Given the description of an element on the screen output the (x, y) to click on. 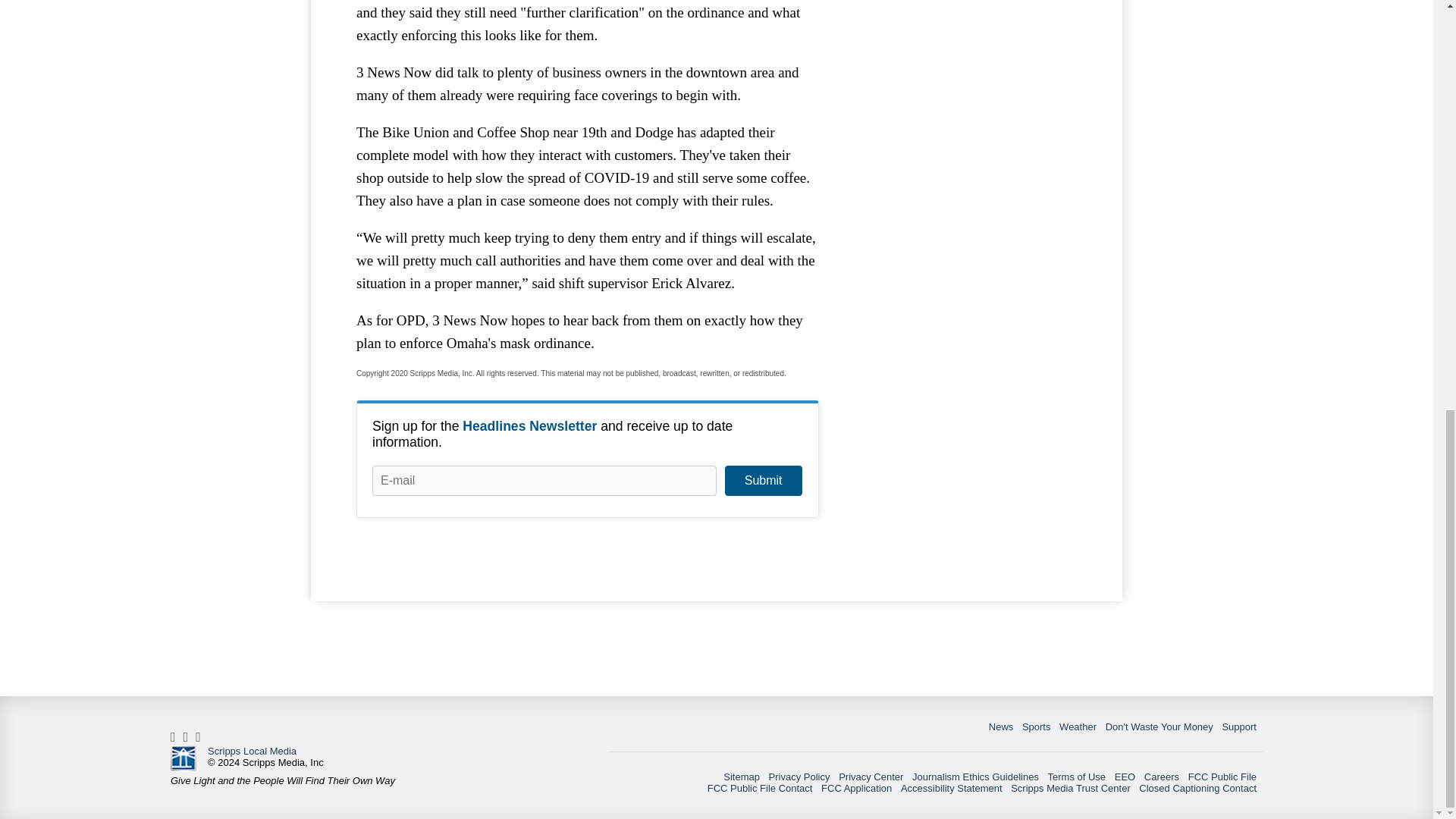
Submit (763, 481)
